Given the description of an element on the screen output the (x, y) to click on. 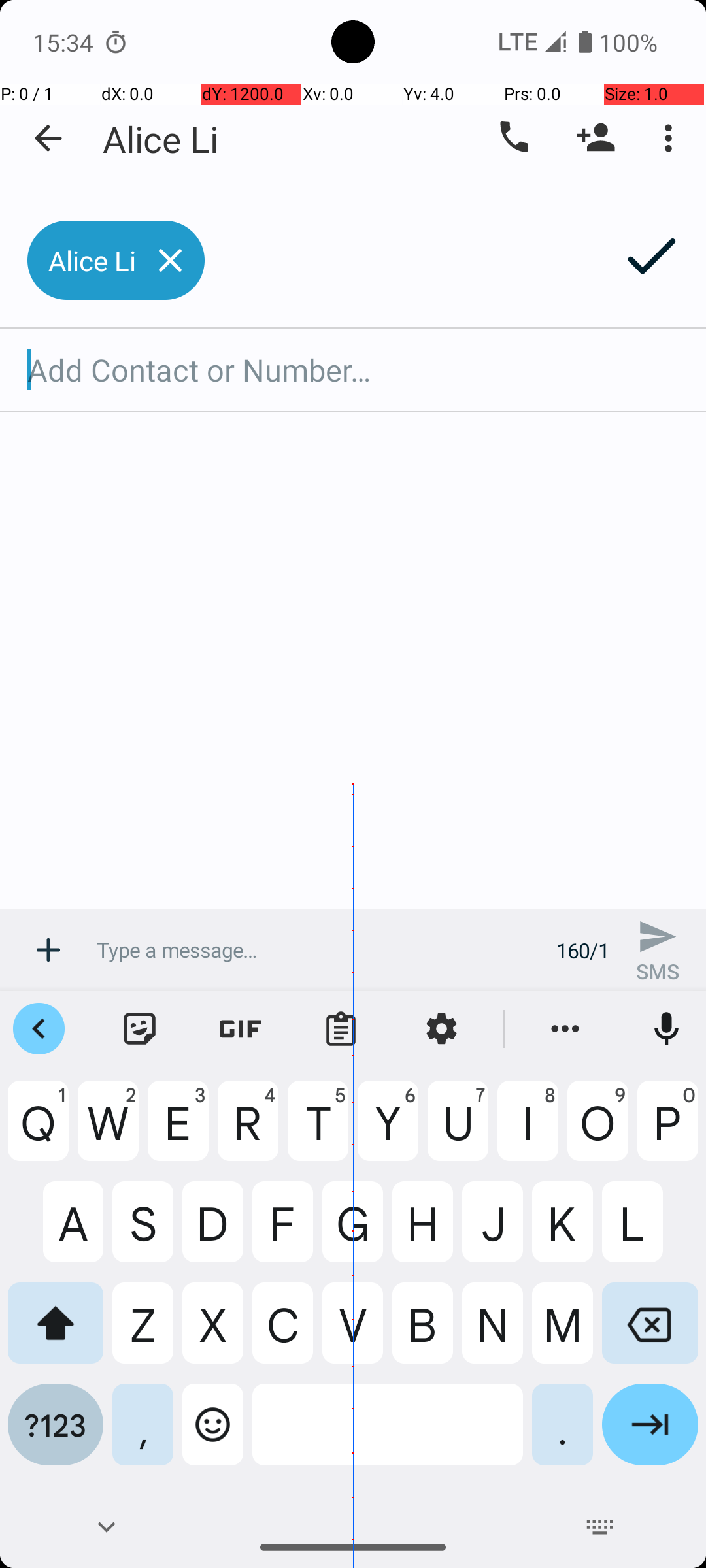
Alice Li Element type: android.widget.TextView (160, 138)
160/1 Element type: android.widget.TextView (582, 950)
